Given the description of an element on the screen output the (x, y) to click on. 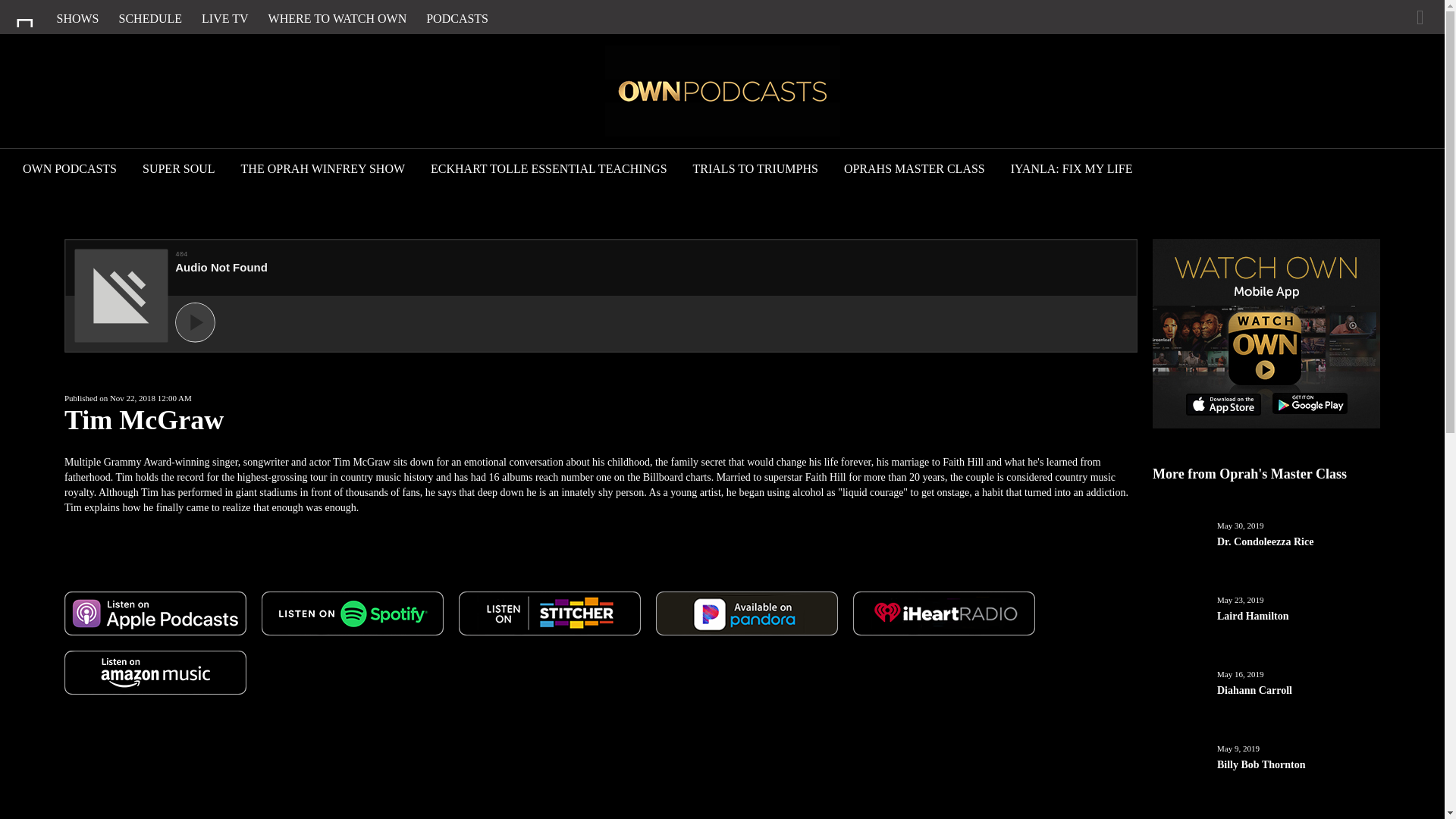
SCHEDULE (151, 18)
WHERE TO WATCH OWN (337, 18)
SHOWS (77, 18)
May 9, 2019 (1238, 747)
PODCASTS (456, 18)
OPRAHS MASTER CLASS (914, 170)
Diahann Carroll (1298, 710)
Billy Bob Thornton (1298, 784)
IYANLA: FIX MY LIFE (1071, 170)
SUPER SOUL (178, 170)
Dr. Condoleezza Rice (1298, 561)
TRIALS TO TRIUMPHS (755, 170)
May 16, 2019 (1240, 673)
May 2, 2019 (1238, 818)
May 30, 2019 (1240, 524)
